Given the description of an element on the screen output the (x, y) to click on. 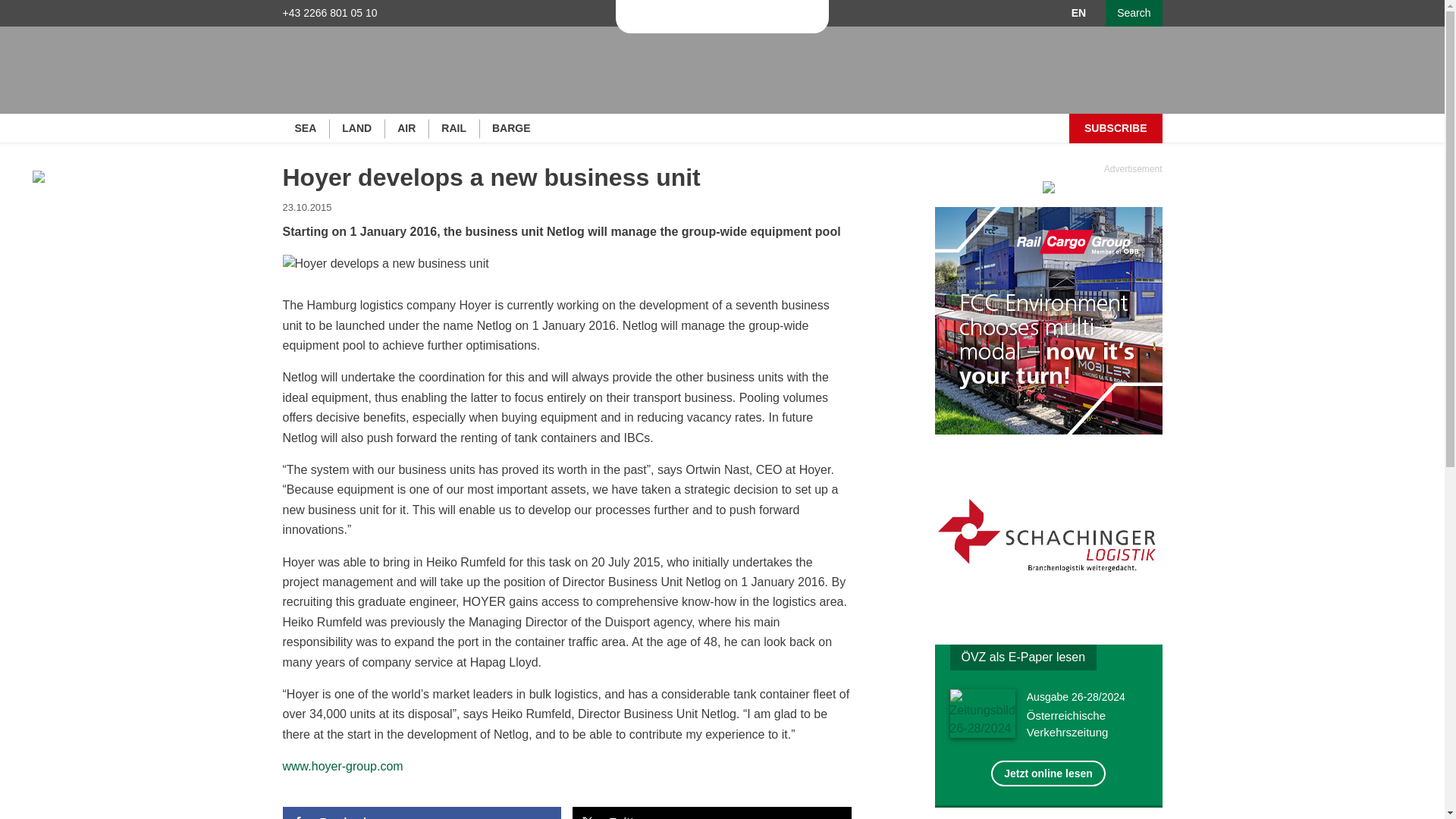
EN (1078, 12)
LAND (357, 128)
Twitter (711, 812)
BARGE (512, 128)
Share on Facebook (421, 812)
Facebook (421, 812)
Jetzt online lesen (987, 715)
Search (1133, 13)
Share on X (711, 812)
www.hoyer-group.com (342, 766)
SUBSCRIBE (1114, 128)
AIR (407, 128)
SEA (306, 128)
Jetzt online lesen (1048, 773)
Jetzt online lesen (1048, 773)
